Given the description of an element on the screen output the (x, y) to click on. 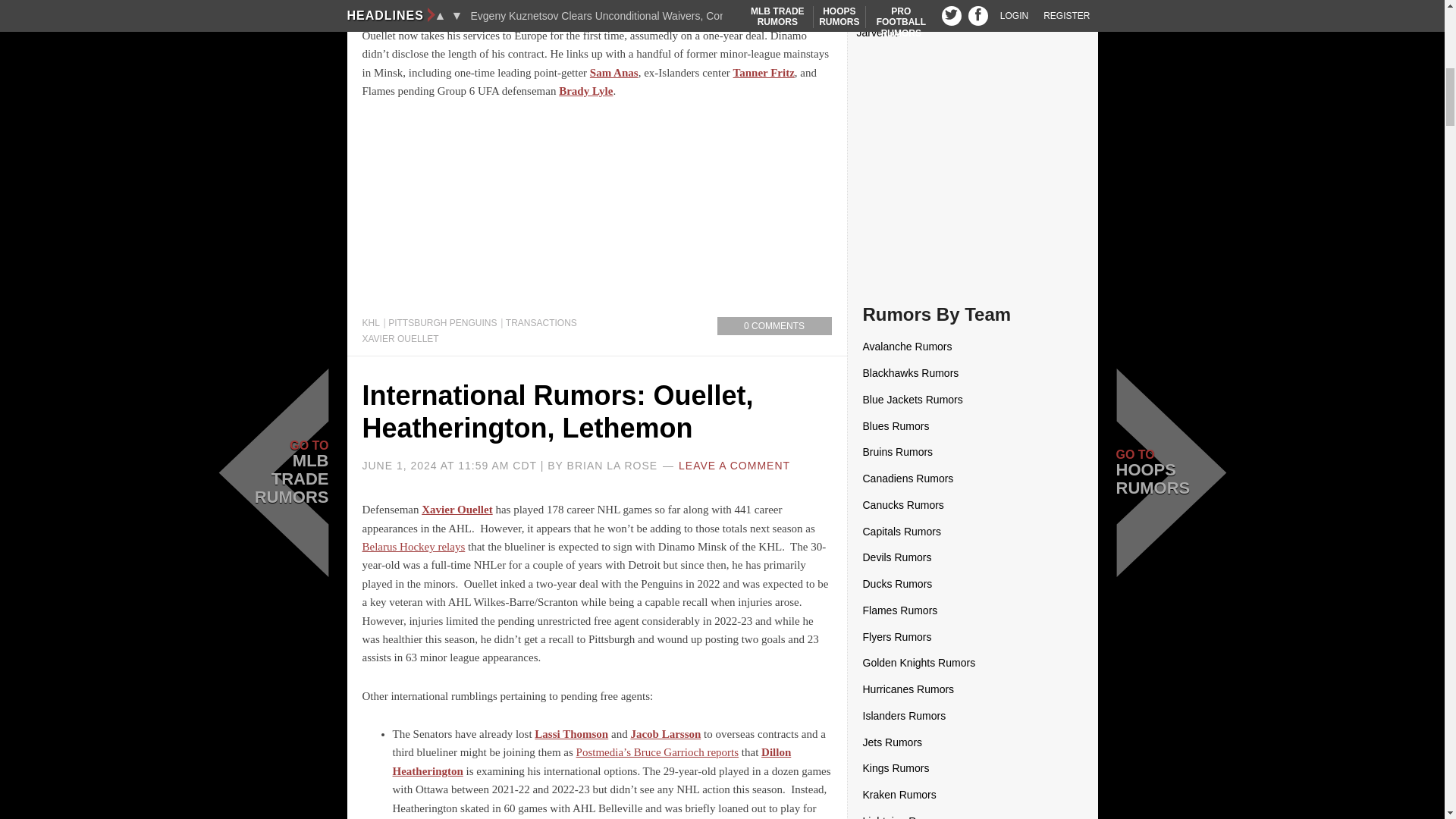
3rd party ad content (597, 214)
